Given the description of an element on the screen output the (x, y) to click on. 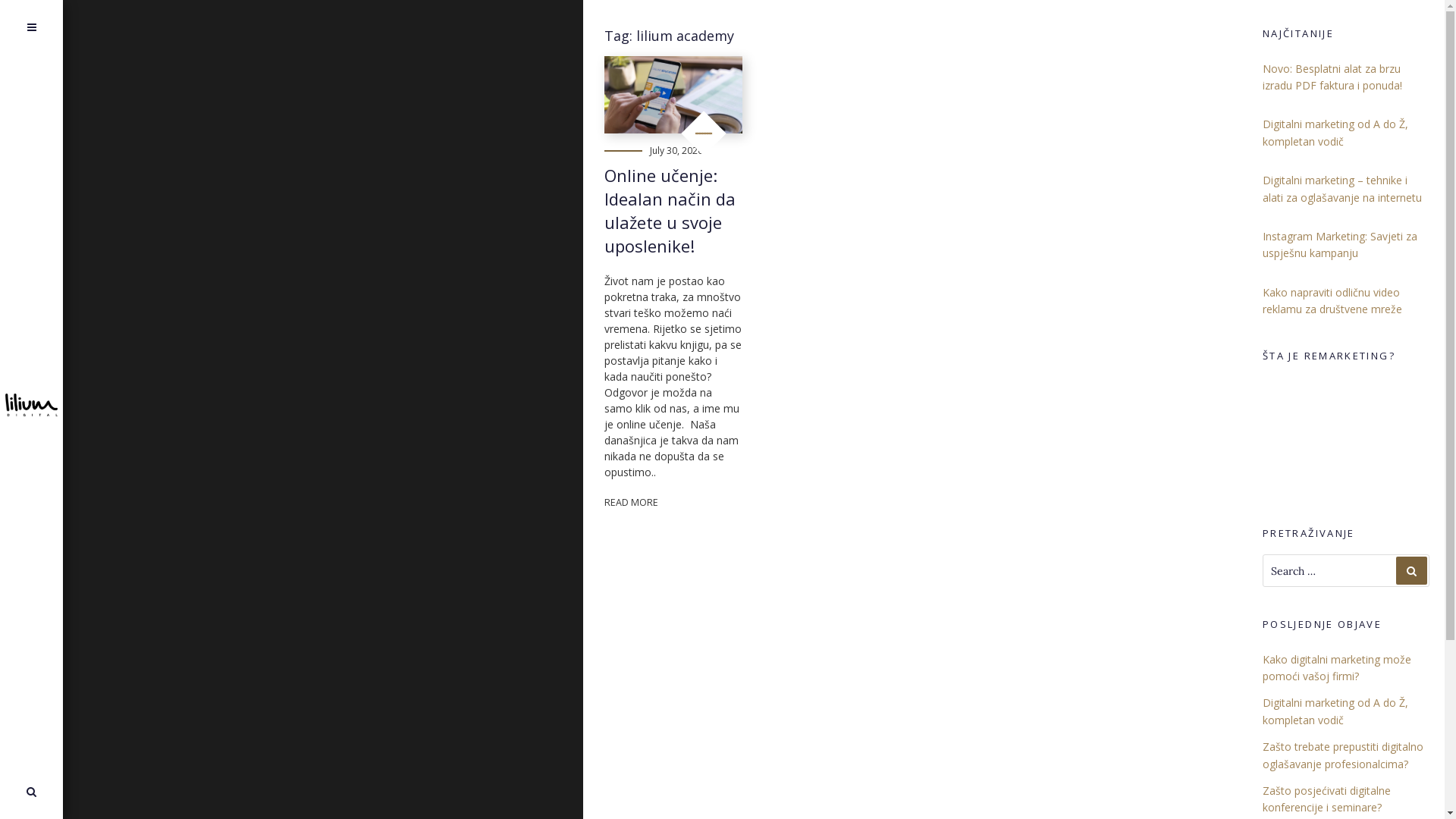
Search Element type: text (31, 791)
Search Element type: text (1411, 570)
B Element type: text (38, 479)
Novo: Besplatni alat za brzu izradu PDF faktura i ponuda! Element type: text (1332, 76)
